Given the description of an element on the screen output the (x, y) to click on. 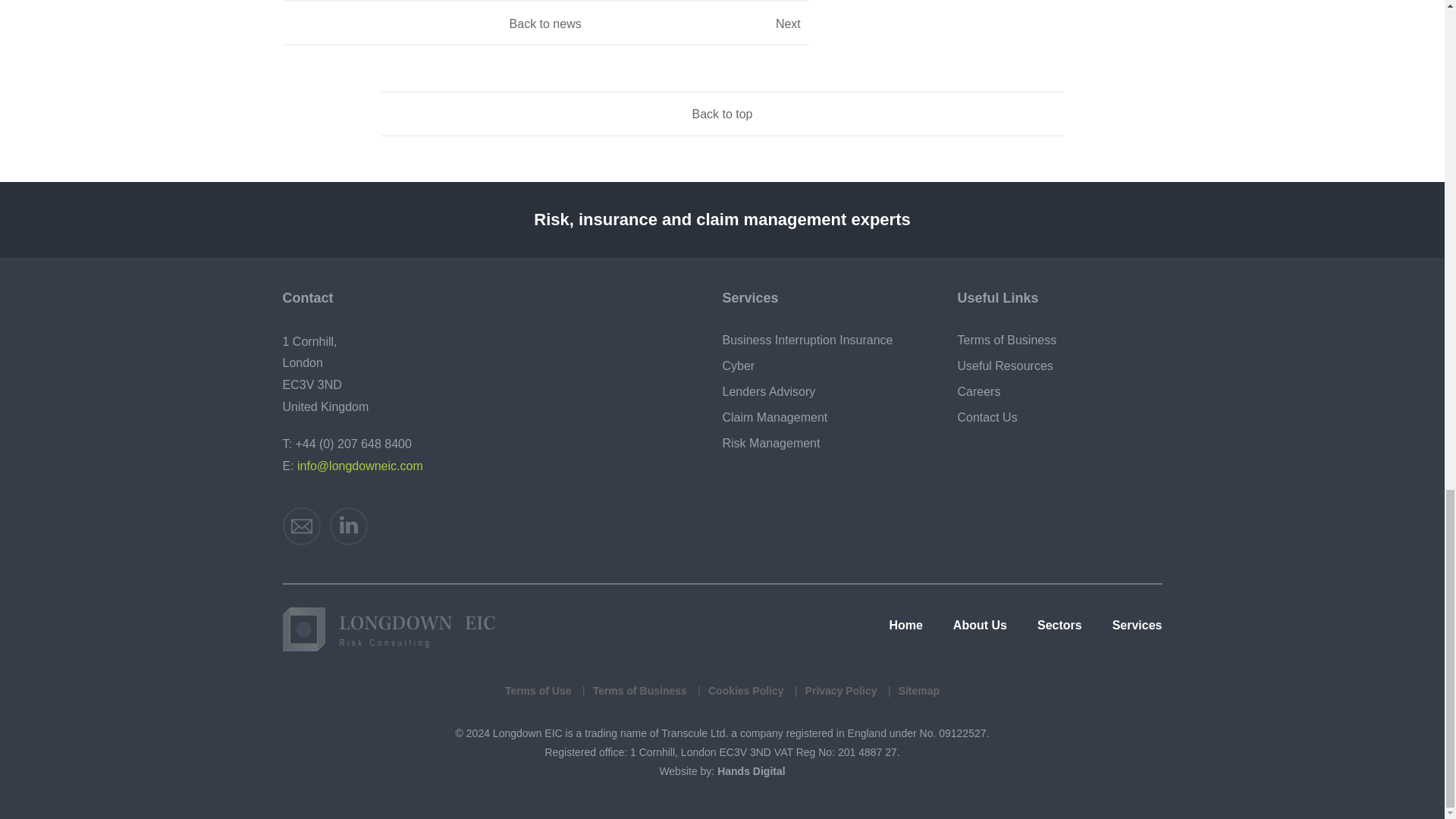
Longdown EIC LinkedIn (349, 525)
Cyber (824, 366)
Longdown EIC Email Address (301, 525)
Useful Resources (1058, 366)
Longdown EIC LinkedIn (349, 525)
Longdown EIC Home Page (388, 629)
Terms of Business (1058, 340)
Back to top (721, 114)
Back to news (545, 22)
Risk Management (824, 443)
